Given the description of an element on the screen output the (x, y) to click on. 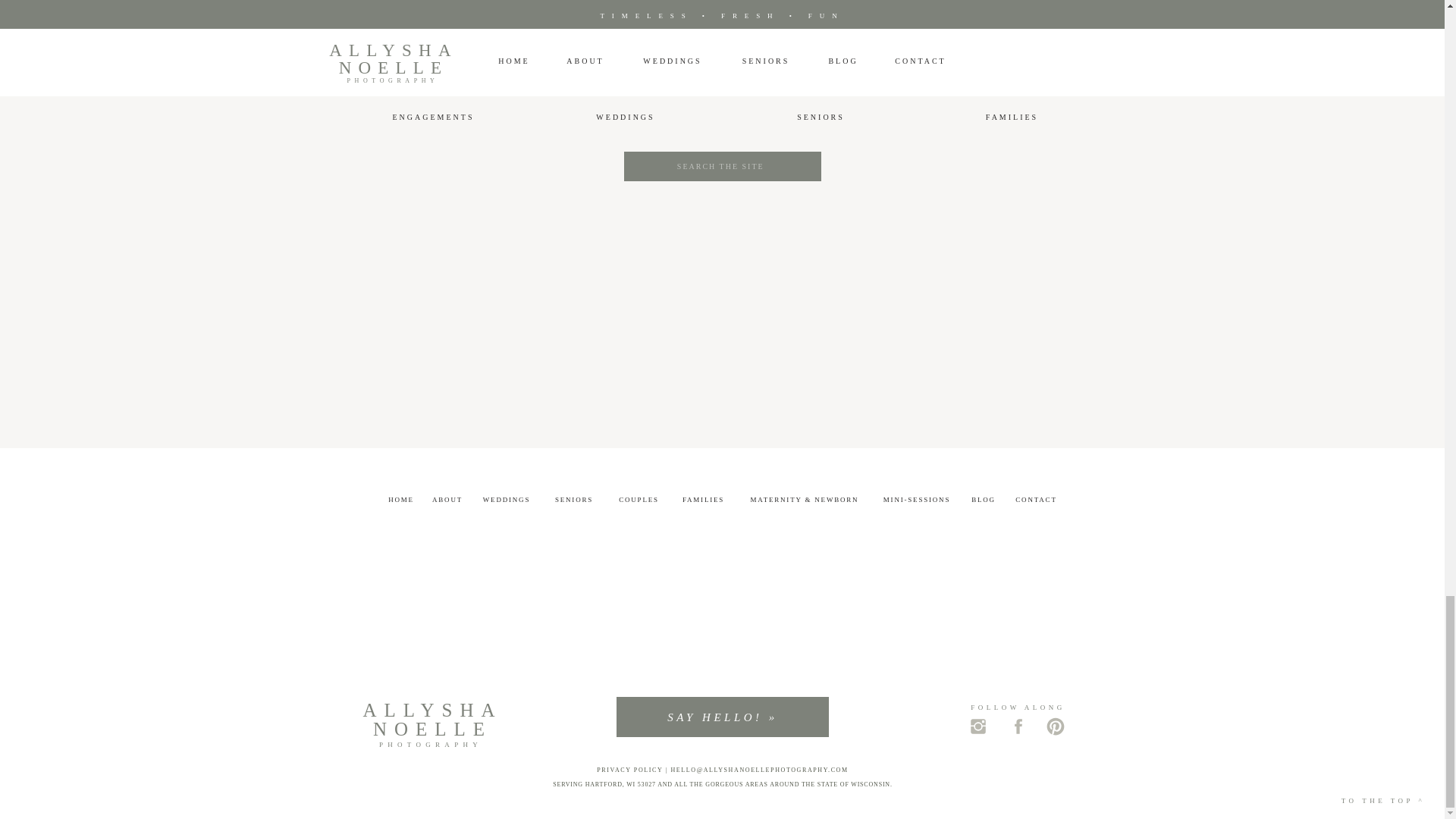
SENIORS (820, 120)
ENGAGEMENTS (433, 118)
FAMILIES (1010, 119)
WEDDINGS (625, 118)
